Given the description of an element on the screen output the (x, y) to click on. 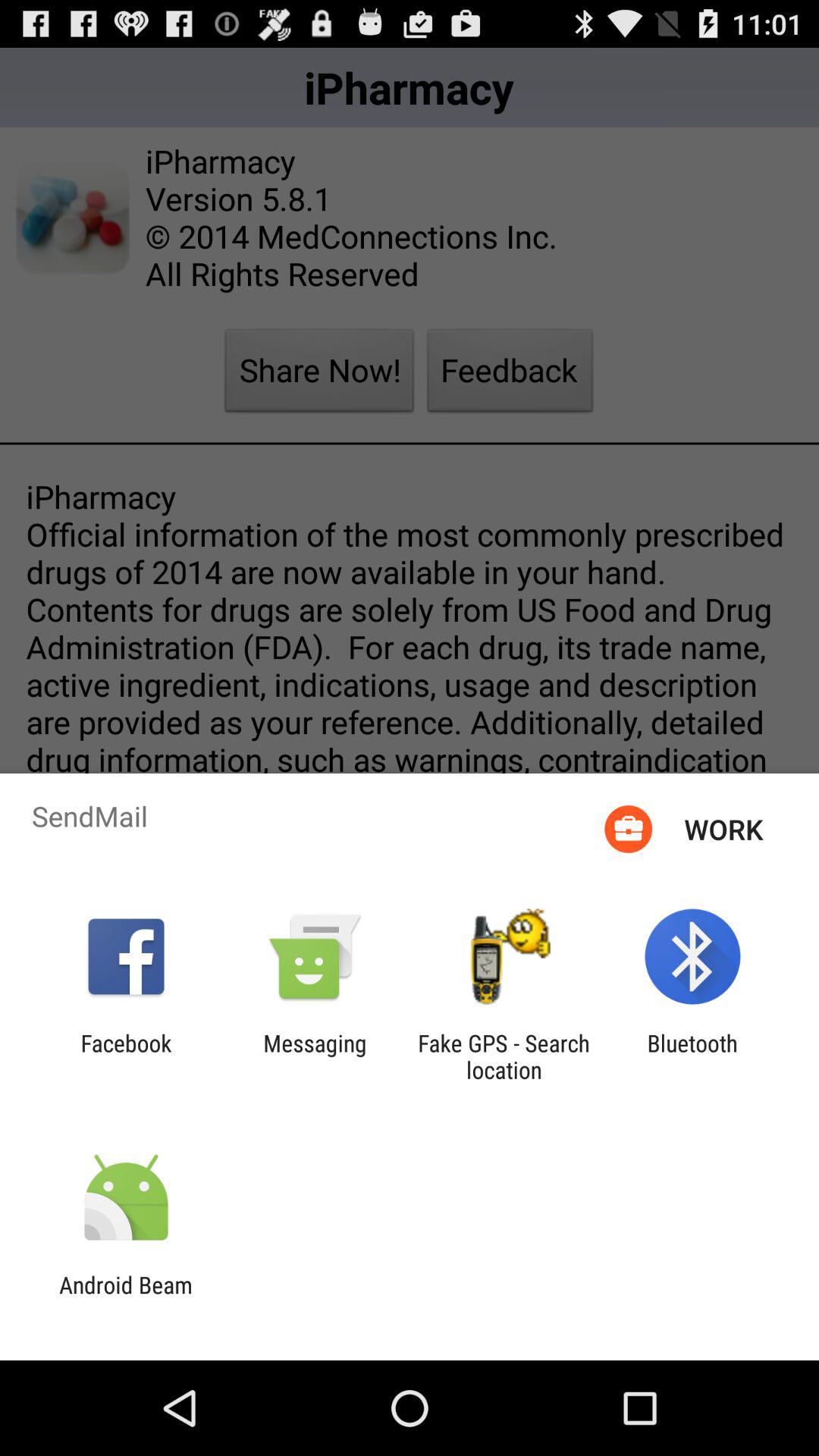
scroll to android beam (125, 1298)
